Given the description of an element on the screen output the (x, y) to click on. 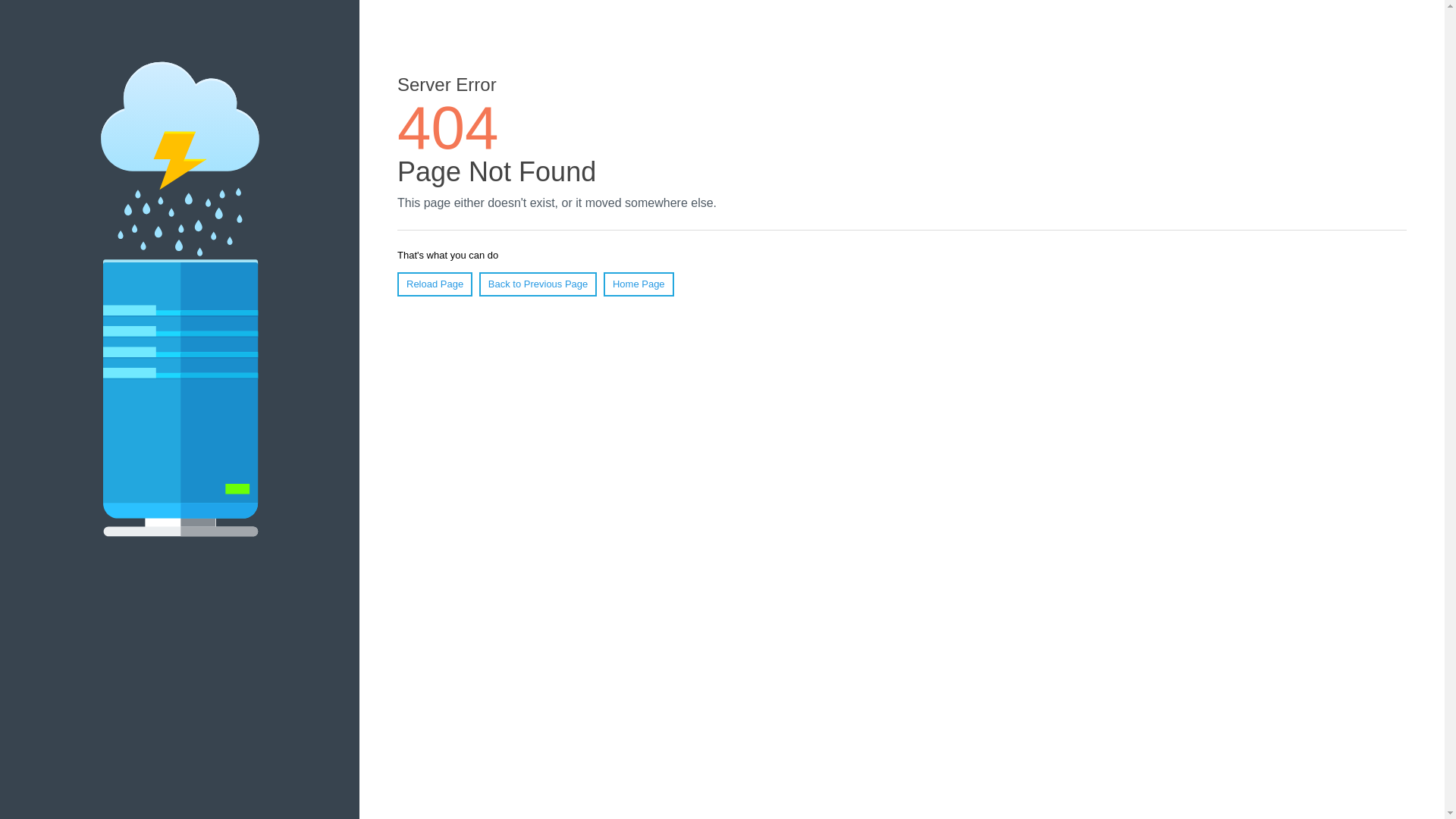
Reload Page Element type: text (434, 284)
Back to Previous Page Element type: text (538, 284)
Home Page Element type: text (638, 284)
